Given the description of an element on the screen output the (x, y) to click on. 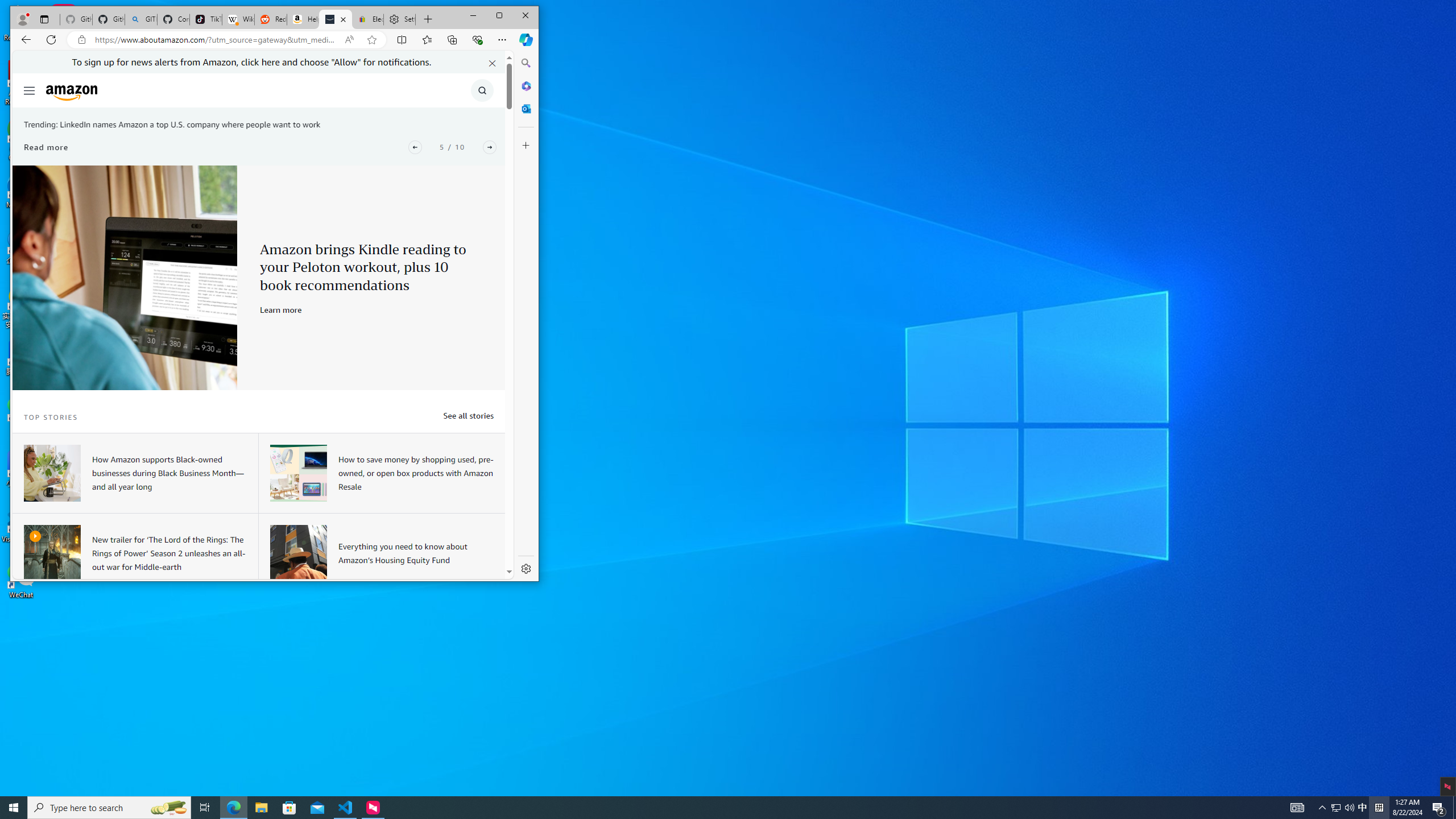
Read more (45, 146)
Task View (204, 807)
Class: burger-menu (28, 89)
A woman sitting at a desk working on a laptop device. (51, 472)
Menu (29, 90)
TikTok (205, 19)
